Given the description of an element on the screen output the (x, y) to click on. 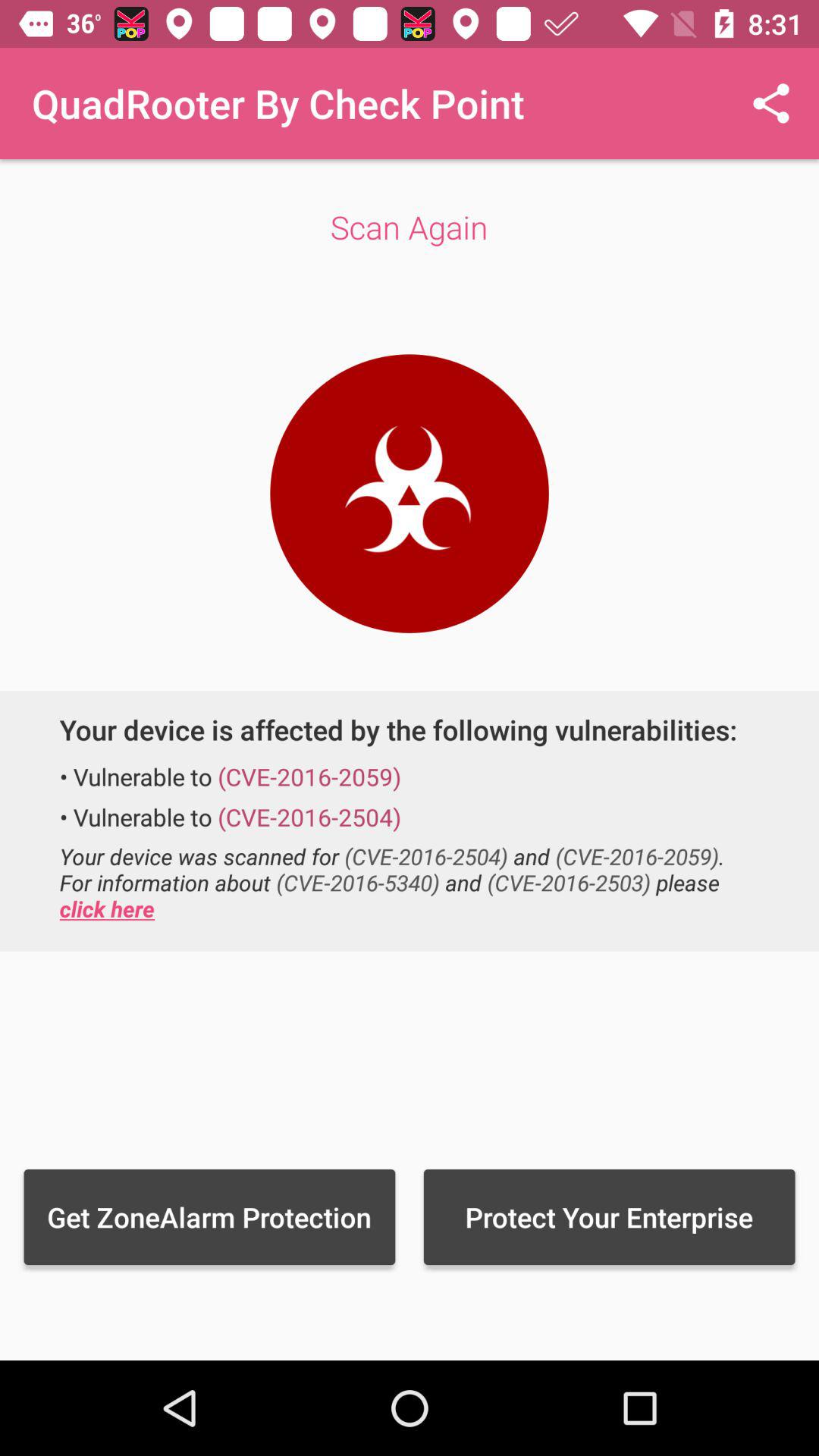
click icon below your device was icon (609, 1216)
